Given the description of an element on the screen output the (x, y) to click on. 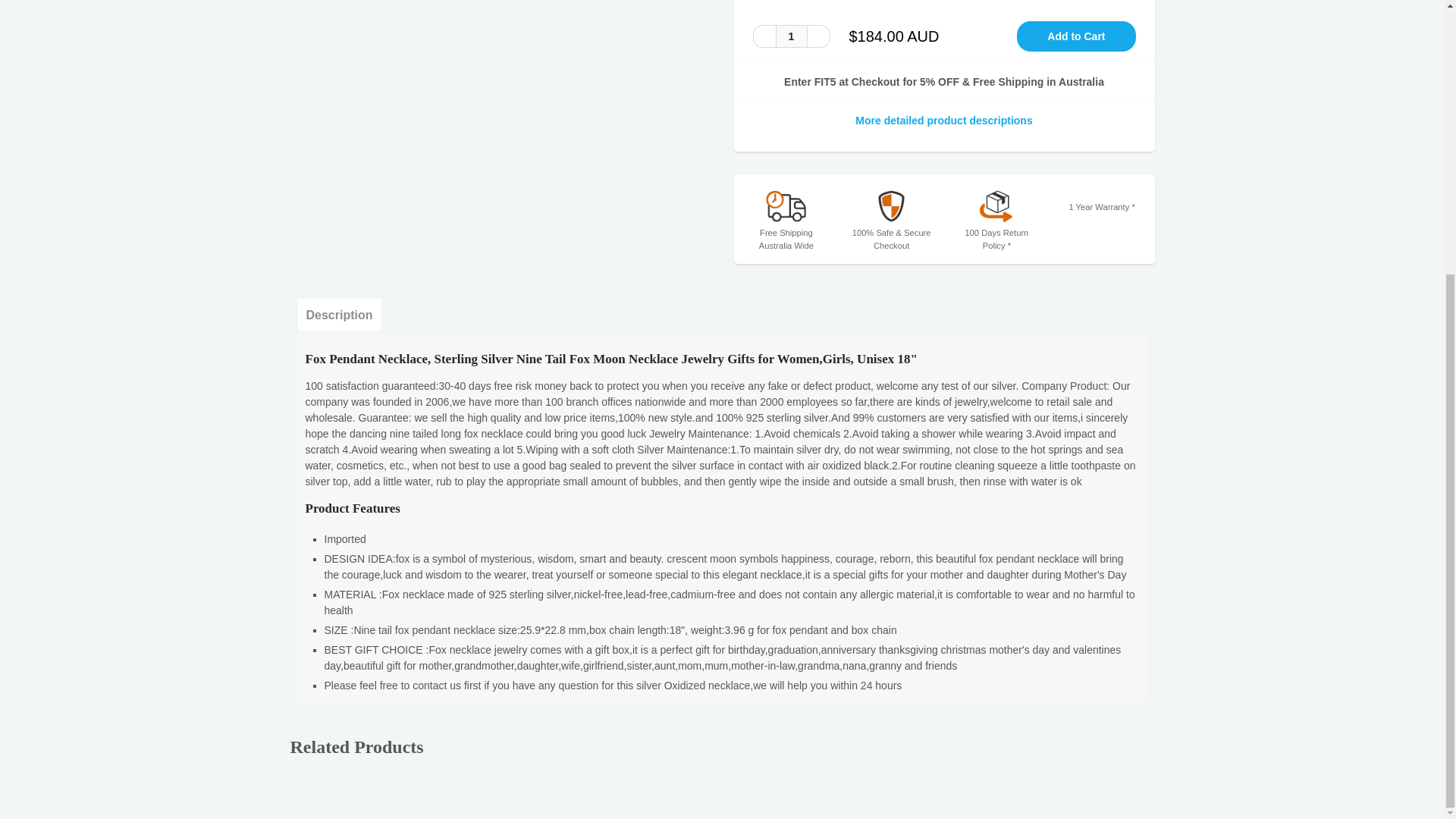
1 (790, 36)
Description (338, 314)
More detailed product descriptions (943, 120)
Add to Cart (1075, 36)
Add to Cart (1075, 36)
